Given the description of an element on the screen output the (x, y) to click on. 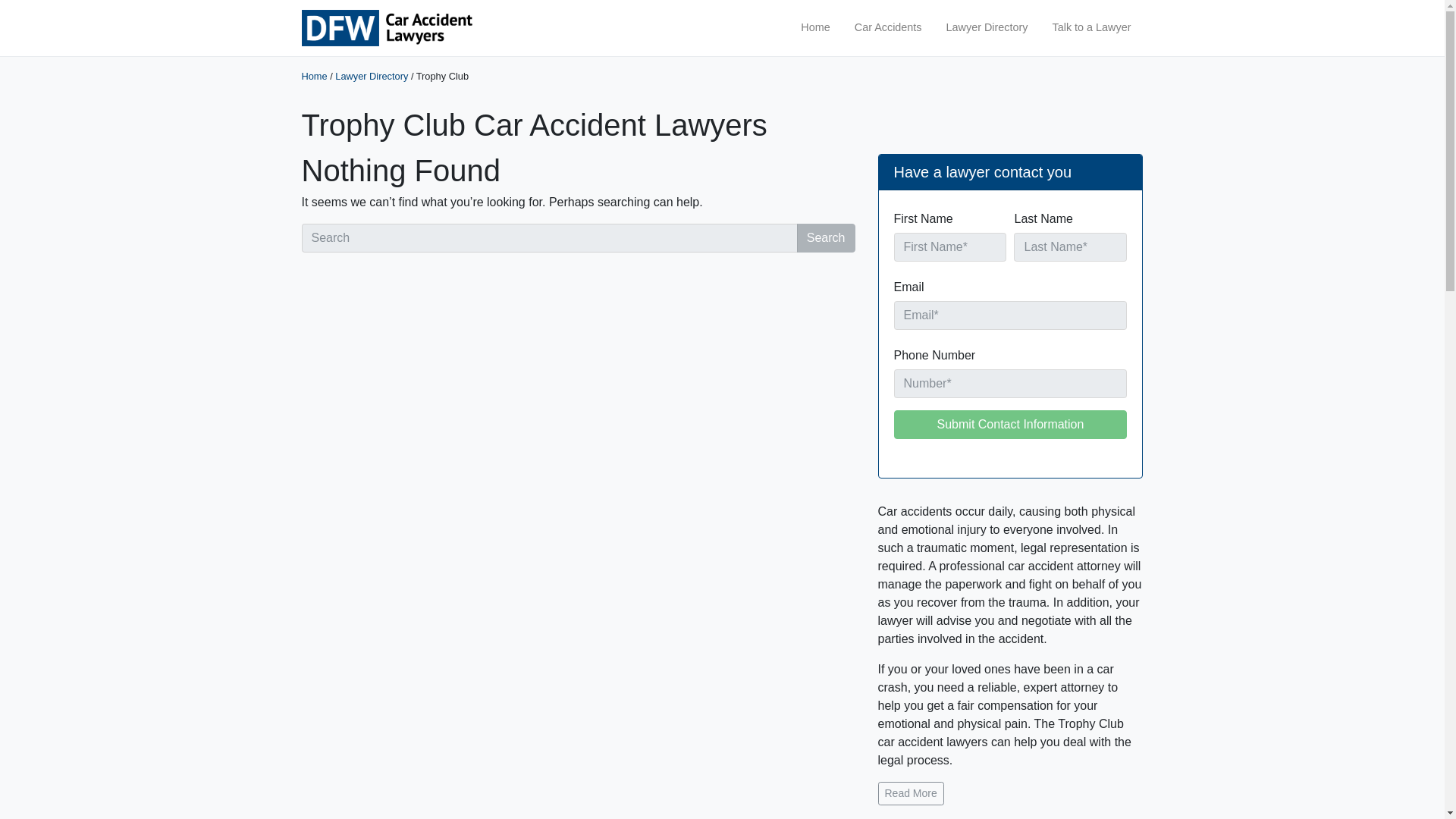
Home (815, 27)
Car Accidents (888, 27)
Lawyer Directory (987, 27)
Submit Contact Information (1009, 424)
Lawyer Directory (370, 75)
Search (826, 237)
Submit Contact Information (1009, 424)
Home (314, 75)
Read More (910, 793)
Talk to a Lawyer (1091, 27)
